Given the description of an element on the screen output the (x, y) to click on. 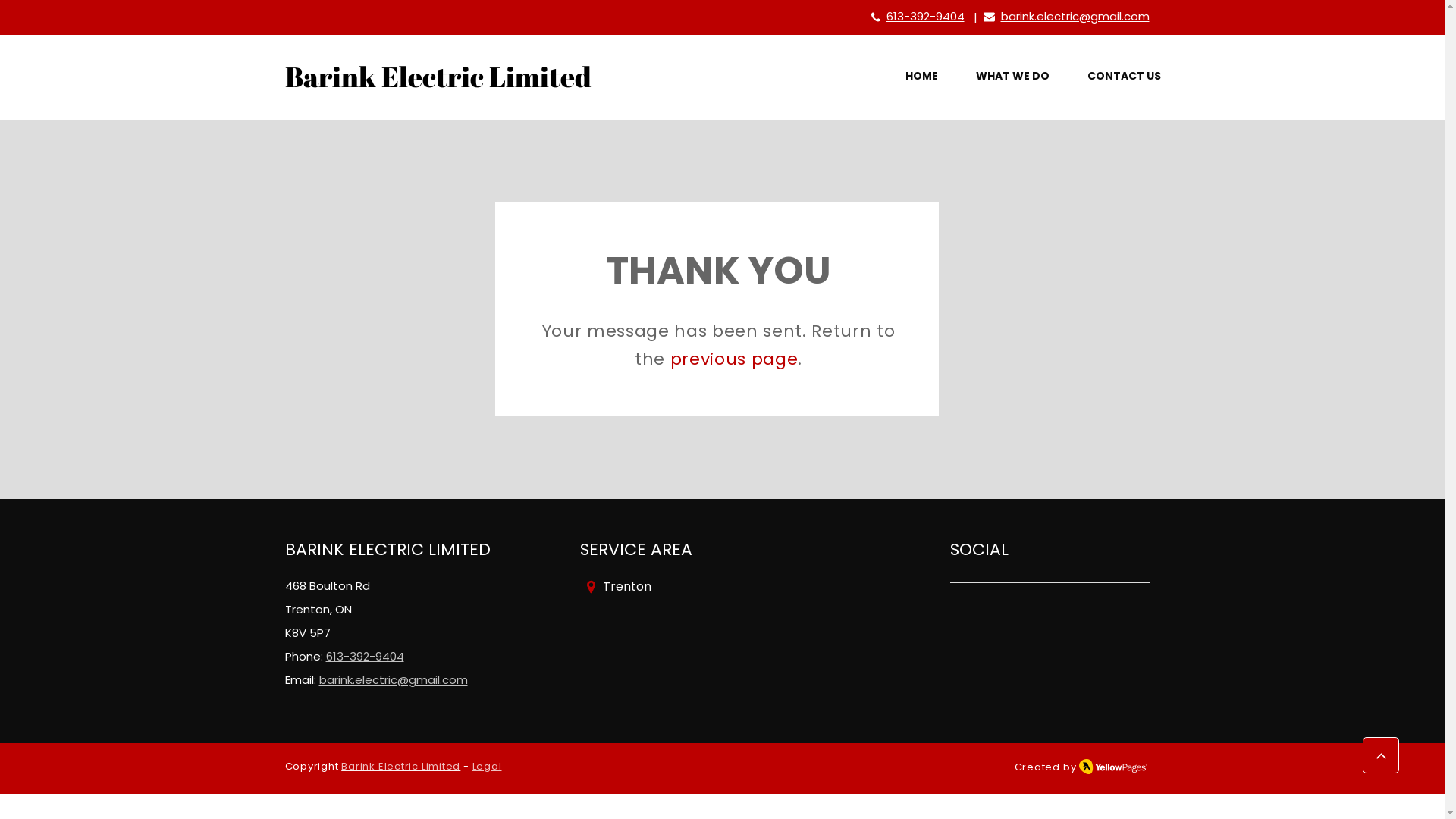
CONTACT US Element type: text (1124, 76)
Legal Element type: text (487, 766)
613-392-9404 Element type: text (924, 17)
barink.electric@gmail.com Element type: text (392, 680)
Barink Electric Limited Element type: text (400, 766)
HOME Element type: text (921, 76)
previous page Element type: text (734, 361)
Barink Electric Limited Element type: text (438, 84)
613-392-9404 Element type: text (365, 657)
barink.electric@gmail.com Element type: text (1075, 17)
